Given the description of an element on the screen output the (x, y) to click on. 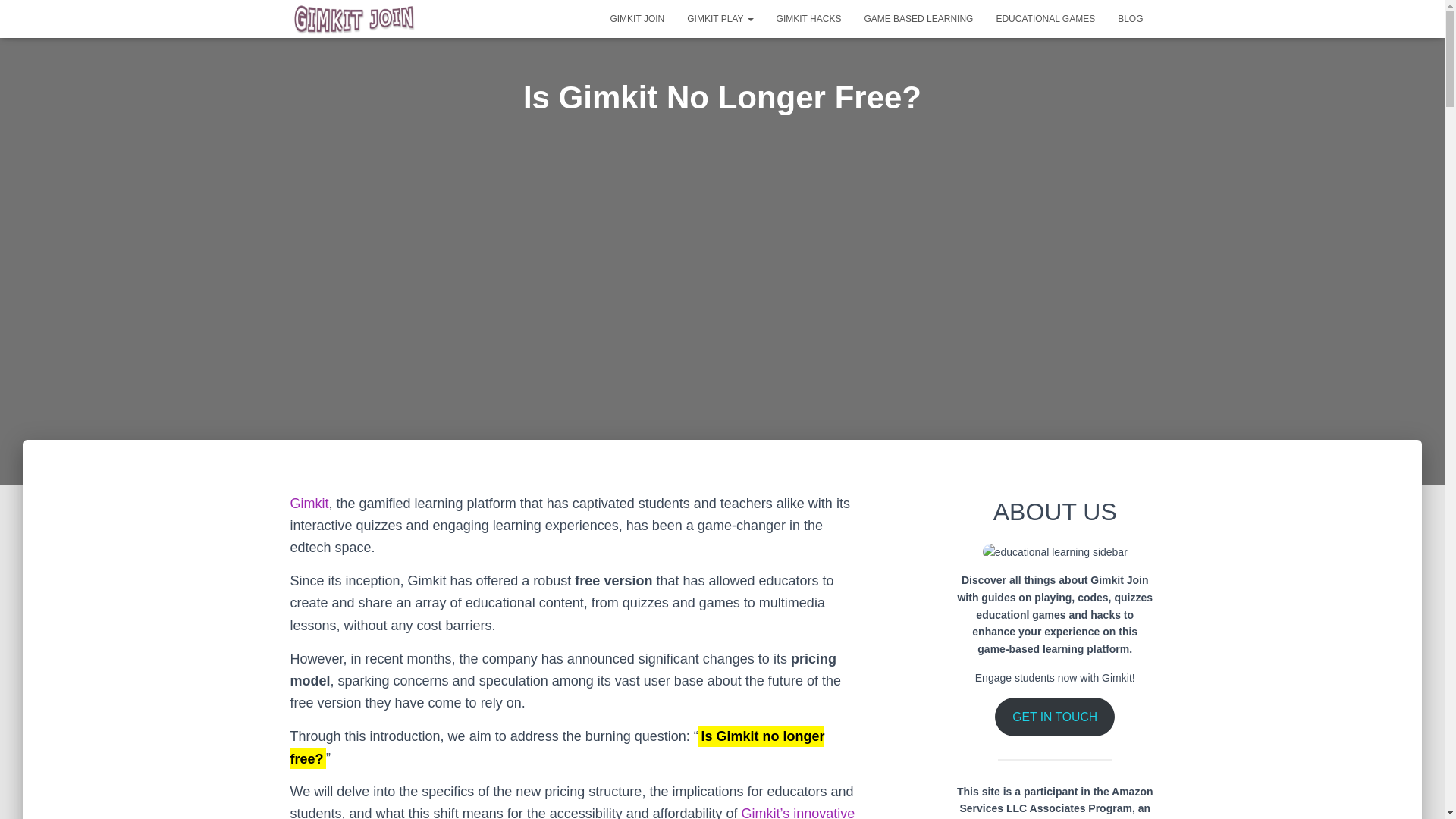
Gimkit (309, 503)
Gimkit Hacks (809, 18)
Blog (1130, 18)
GIMKIT JOIN (636, 18)
Gimkit Join (354, 18)
Gimkit Play (719, 18)
Gimkit Join (636, 18)
Educational Games (1045, 18)
GIMKIT HACKS (809, 18)
BLOG (1130, 18)
